Given the description of an element on the screen output the (x, y) to click on. 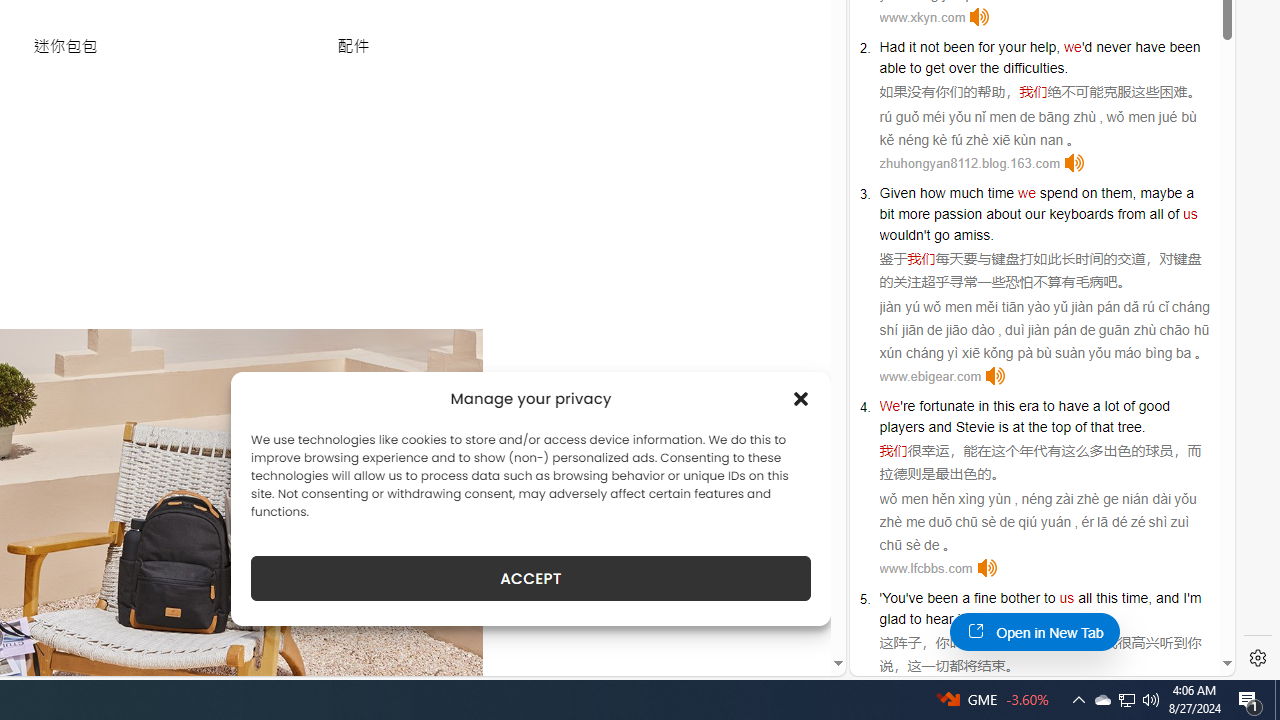
bother (1019, 597)
You (893, 597)
